Given the description of an element on the screen output the (x, y) to click on. 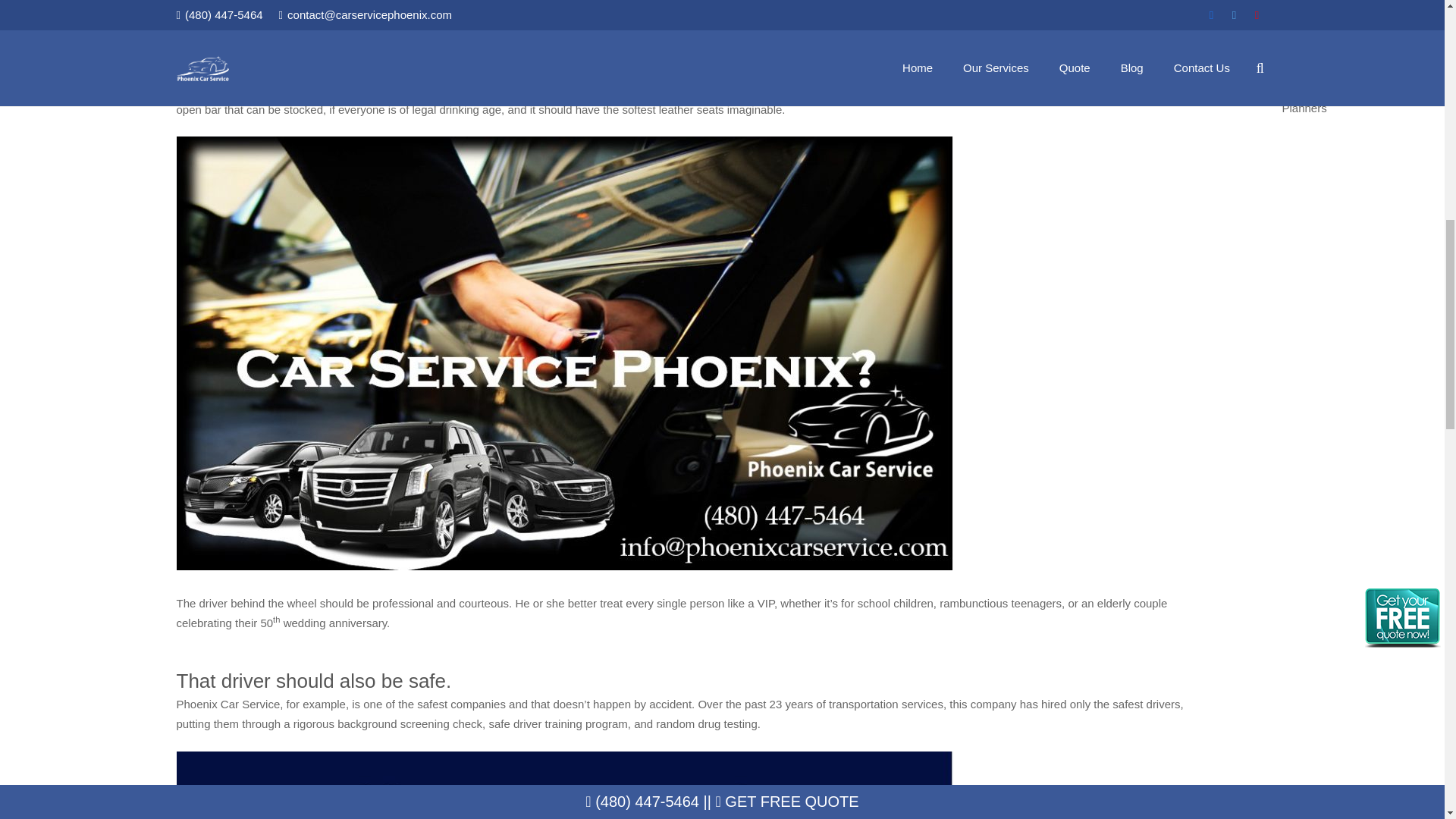
Back to top (1413, 26)
Phoenix Airport Car Service (619, 65)
